Given the description of an element on the screen output the (x, y) to click on. 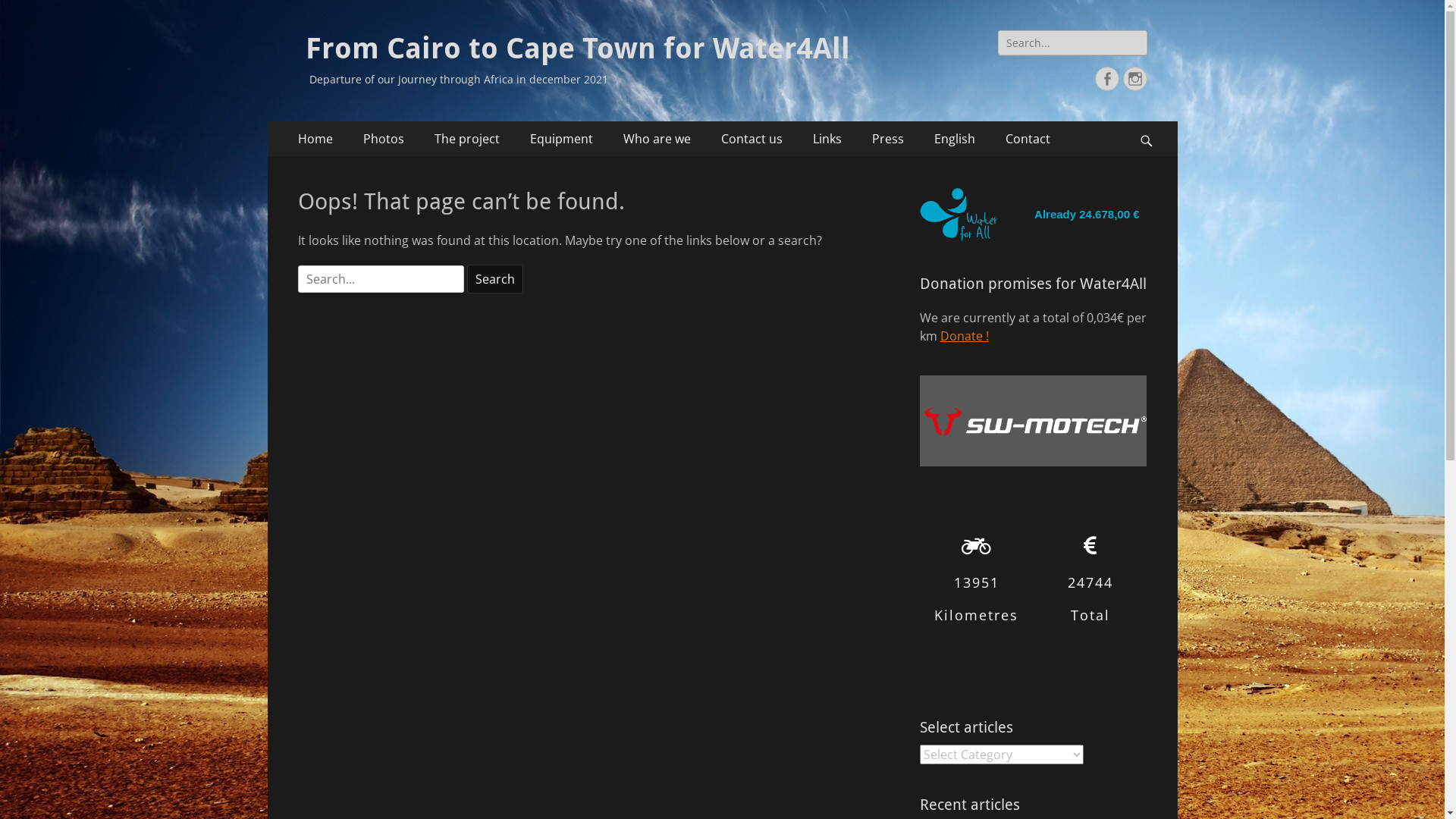
Search Element type: text (28, 14)
The project Element type: text (466, 138)
Facebook Element type: text (1107, 78)
Press Element type: text (887, 138)
Links Element type: text (826, 138)
Contact us Element type: text (751, 138)
Instagram Element type: text (1134, 78)
Contact Element type: text (1027, 138)
Photos Element type: text (382, 138)
Equipment Element type: text (560, 138)
Search Element type: text (1152, 120)
Search Element type: text (495, 278)
English Element type: text (954, 138)
From Cairo to Cape Town for Water4All Element type: text (576, 48)
Home Element type: text (314, 138)
Search for: Element type: hover (380, 278)
Who are we Element type: text (657, 138)
Search for: Element type: hover (1072, 42)
Donate ! Element type: text (964, 335)
